Given the description of an element on the screen output the (x, y) to click on. 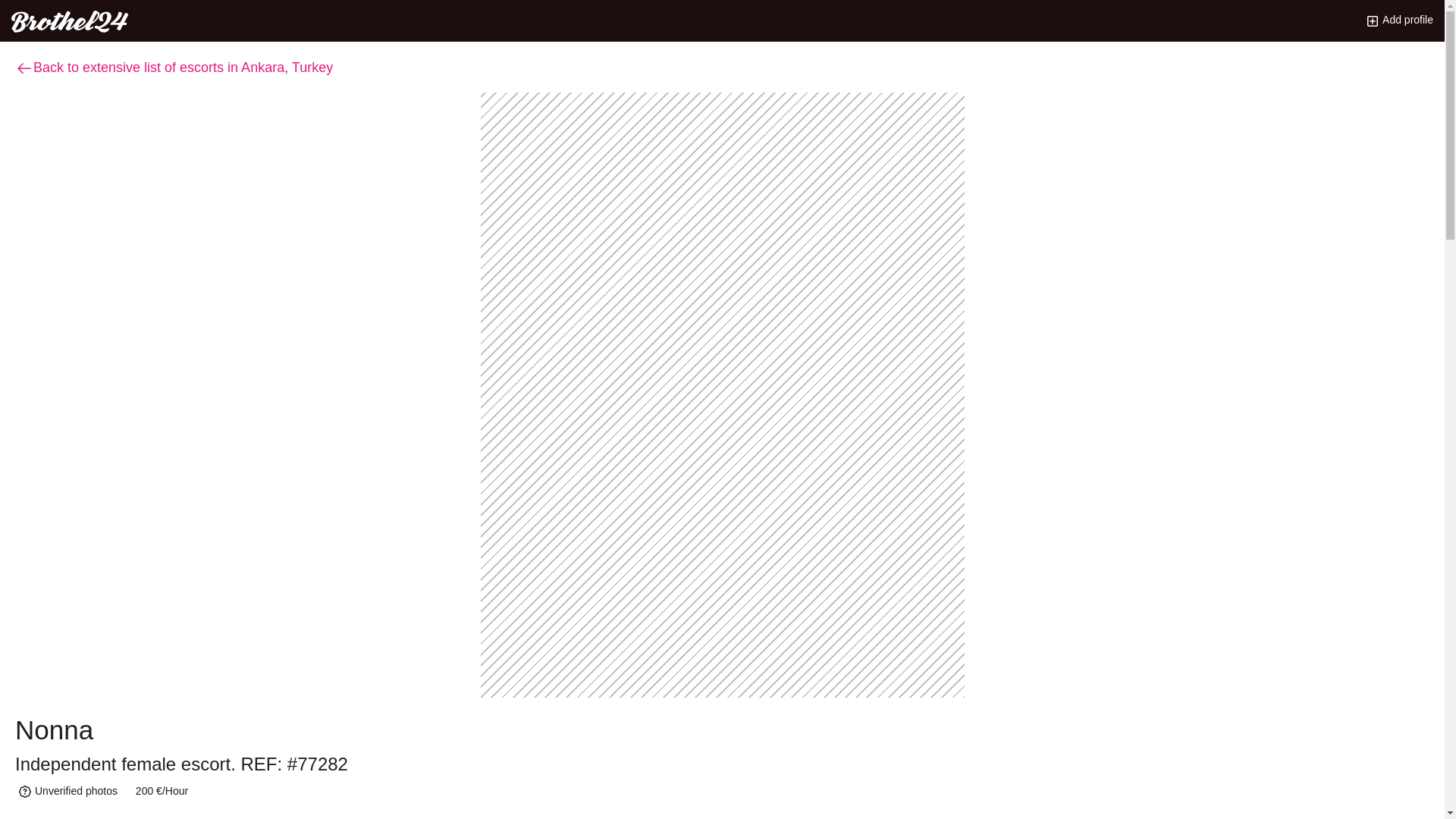
Back to extensive list of escorts in Ankara, Turkey (173, 67)
Add profile (1399, 19)
Add profile (1399, 19)
Return to the list (173, 67)
Brothel24 Homepage (69, 18)
